Given the description of an element on the screen output the (x, y) to click on. 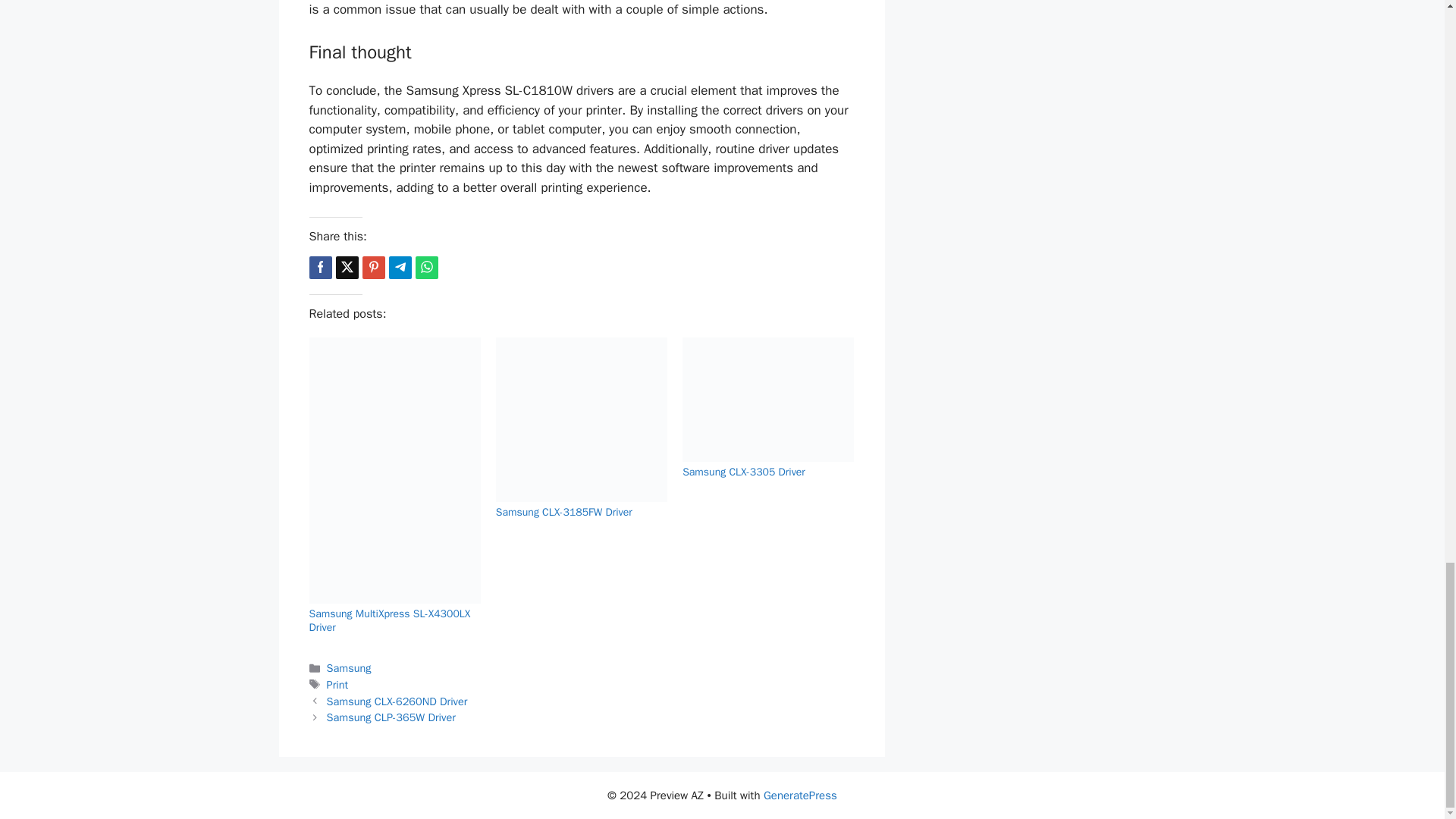
Telegram Share (399, 267)
Share this (319, 267)
Pin this (373, 267)
Samsung MultiXpress SL-X4300LX Driver (389, 620)
Whatsapp (426, 267)
Samsung CLX-3305 Driver (743, 472)
Tweet this (346, 267)
Print (337, 684)
Samsung CLX-3185FW Driver (563, 512)
Samsung (348, 667)
Samsung CLX-6260ND Driver (396, 701)
